Given the description of an element on the screen output the (x, y) to click on. 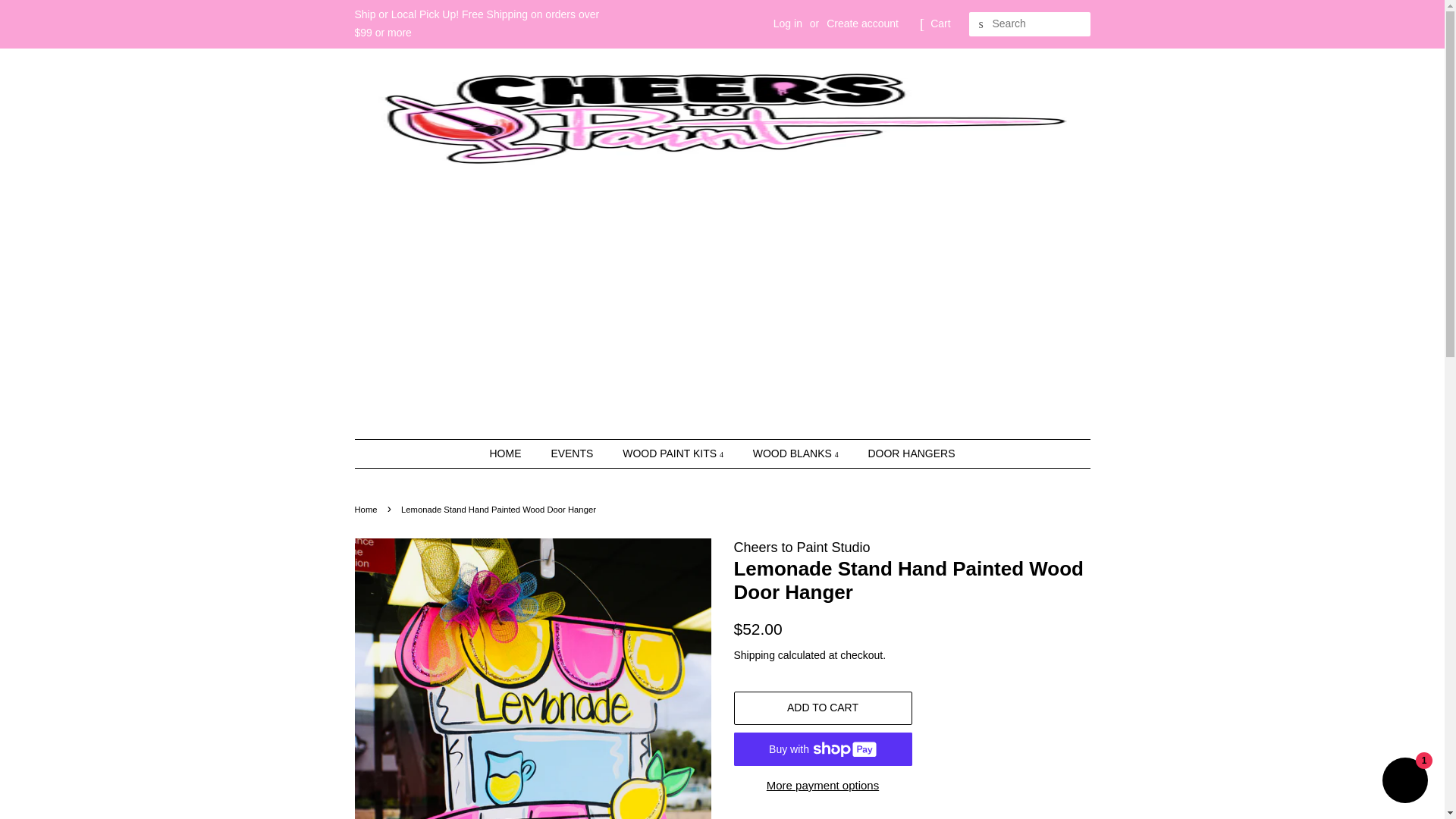
Create account (862, 23)
SEARCH (980, 24)
Log in (787, 23)
Back to the frontpage (368, 509)
Shopify online store chat (1404, 781)
Cart (940, 24)
